Given the description of an element on the screen output the (x, y) to click on. 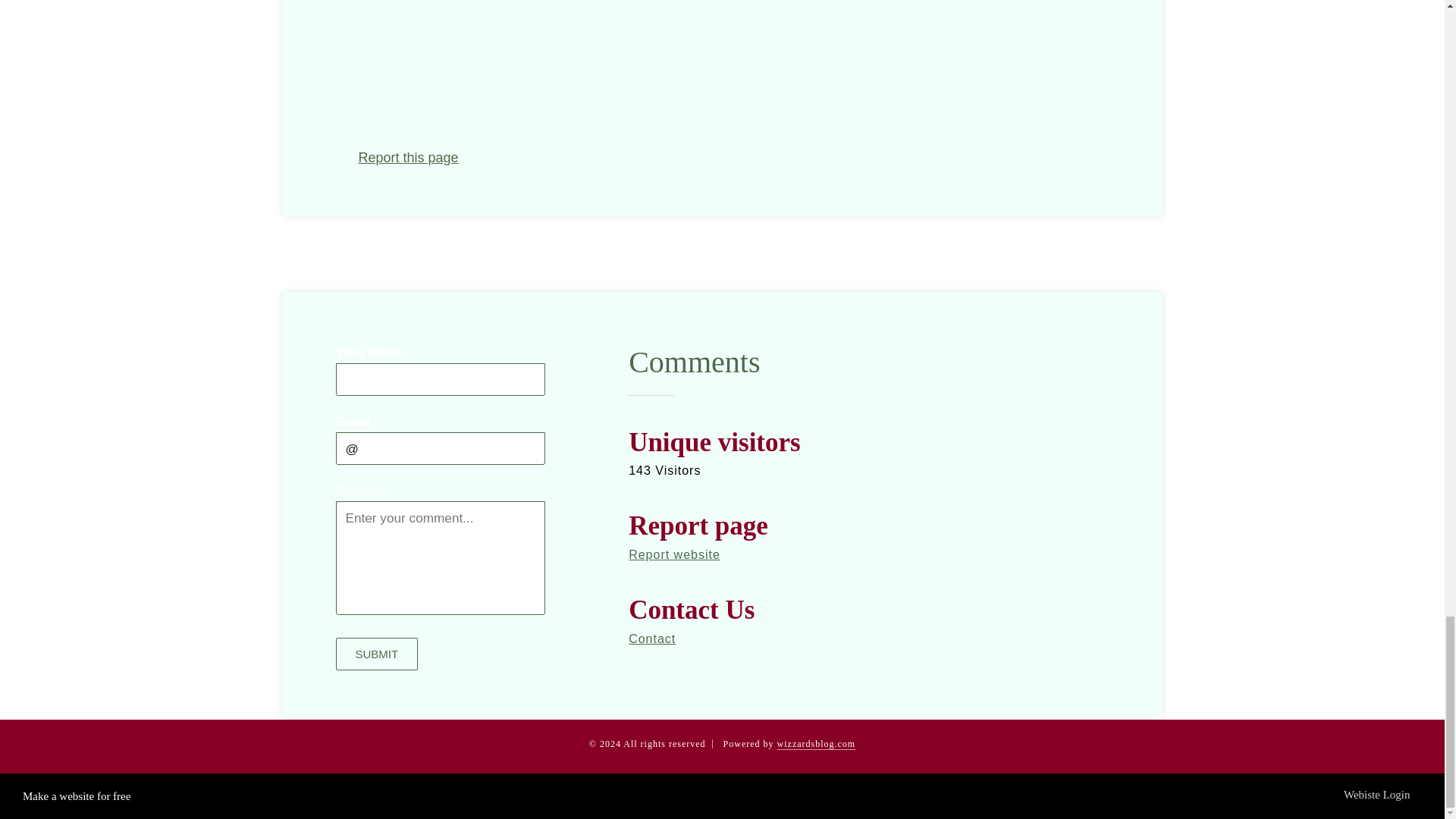
wizzardsblog.com (816, 744)
Report website (674, 554)
Contact (651, 638)
Make a website for free (77, 796)
SUBMIT (375, 654)
Report this page (408, 157)
Webiste Login (1382, 795)
